Given the description of an element on the screen output the (x, y) to click on. 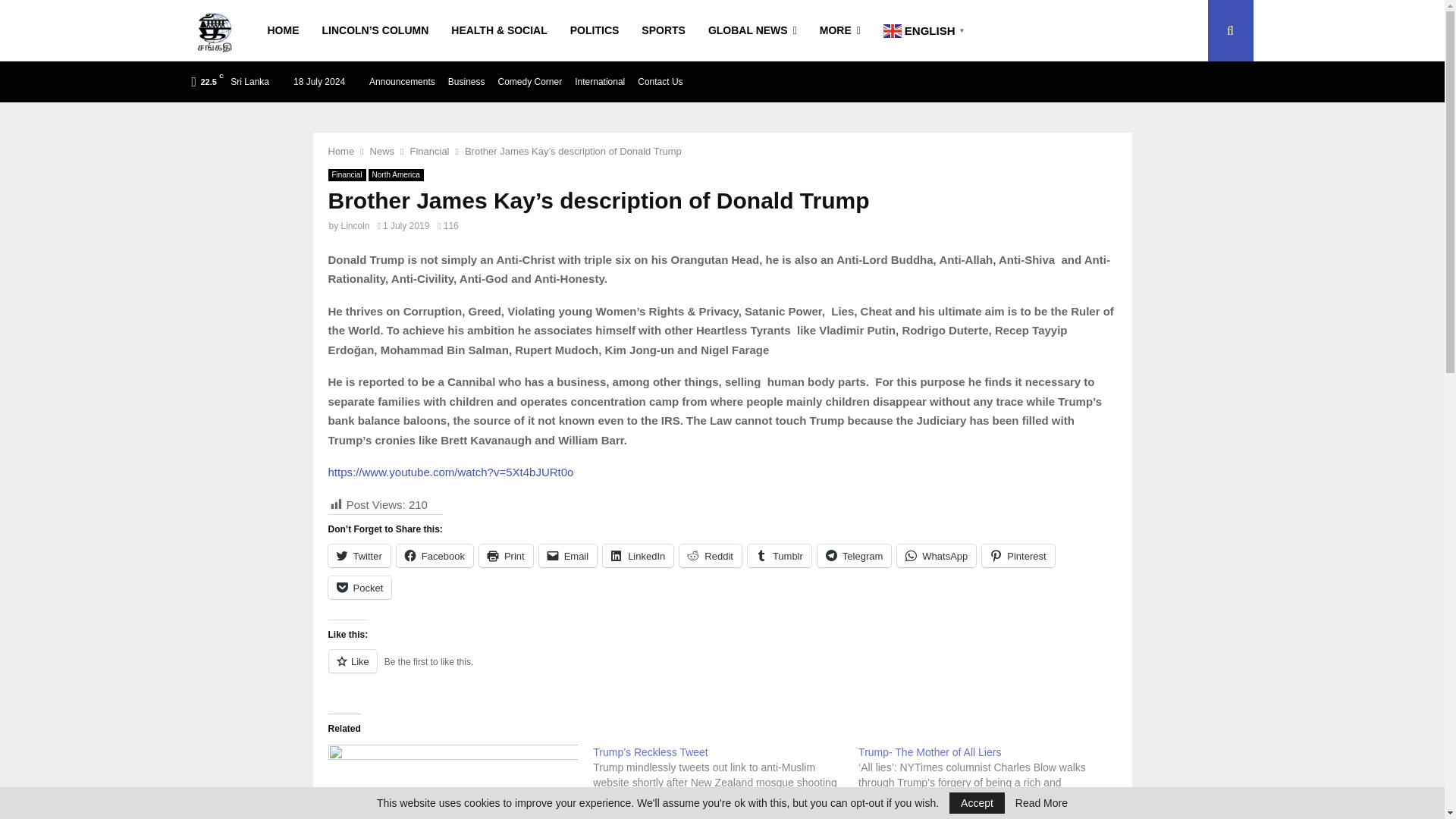
HOME (282, 30)
GLOBAL NEWS (751, 30)
Click to share on LinkedIn (637, 555)
Racism refuelled (452, 781)
Click to print (505, 555)
Click to share on Pinterest (1017, 555)
Click to share on Tumblr (779, 555)
SPORTS (663, 30)
Click to share on WhatsApp (935, 555)
Click to share on Pocket (359, 587)
POLITICS (595, 30)
Click to share on Telegram (853, 555)
Comedy Corner (529, 81)
Click to share on Reddit (710, 555)
Click to share on Facebook (434, 555)
